Given the description of an element on the screen output the (x, y) to click on. 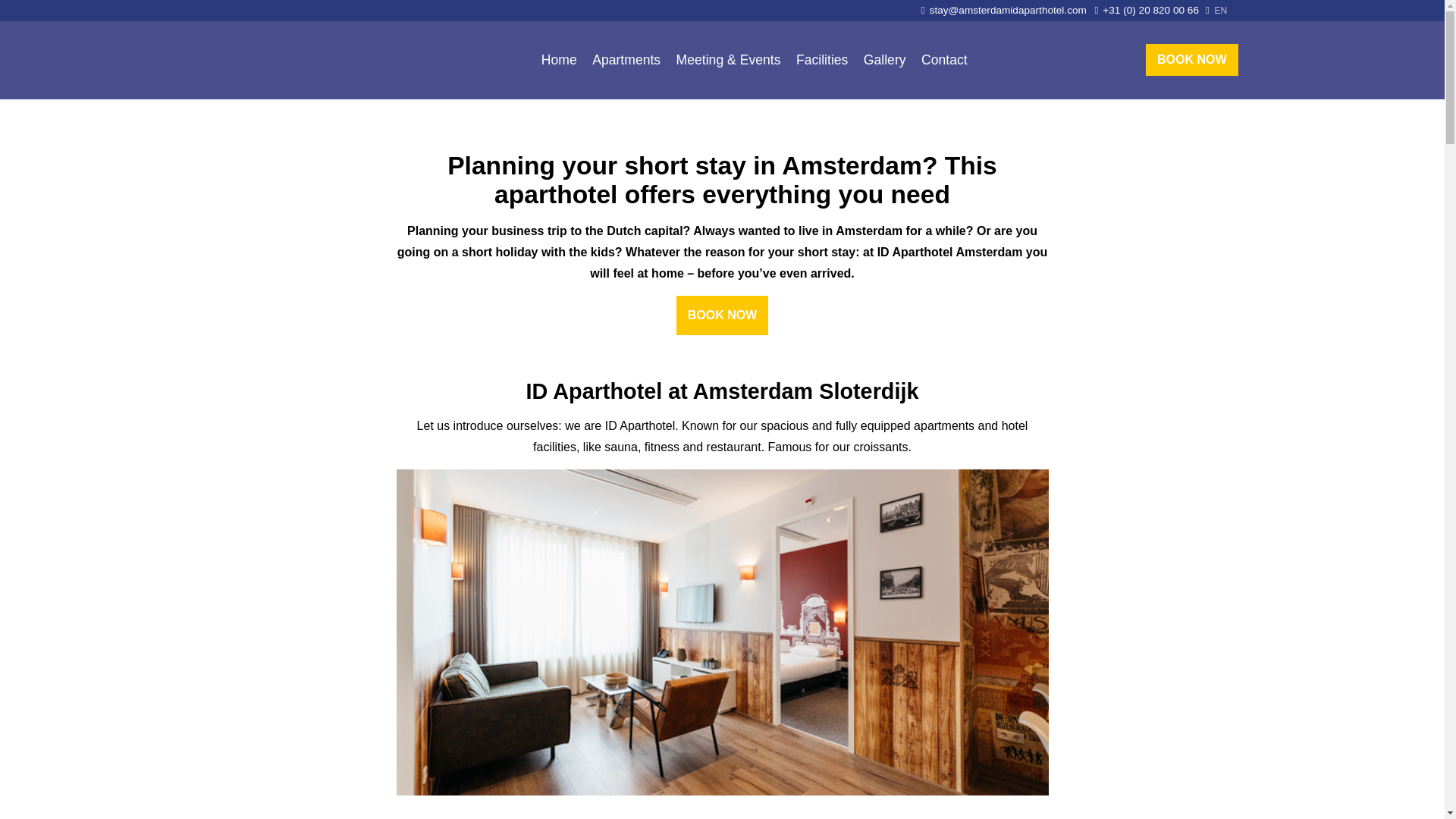
Facilities (821, 59)
Home (558, 59)
Contact (944, 59)
BOOK NOW (1192, 60)
Gallery (884, 59)
Apartments (626, 59)
BOOK NOW (722, 314)
